Given the description of an element on the screen output the (x, y) to click on. 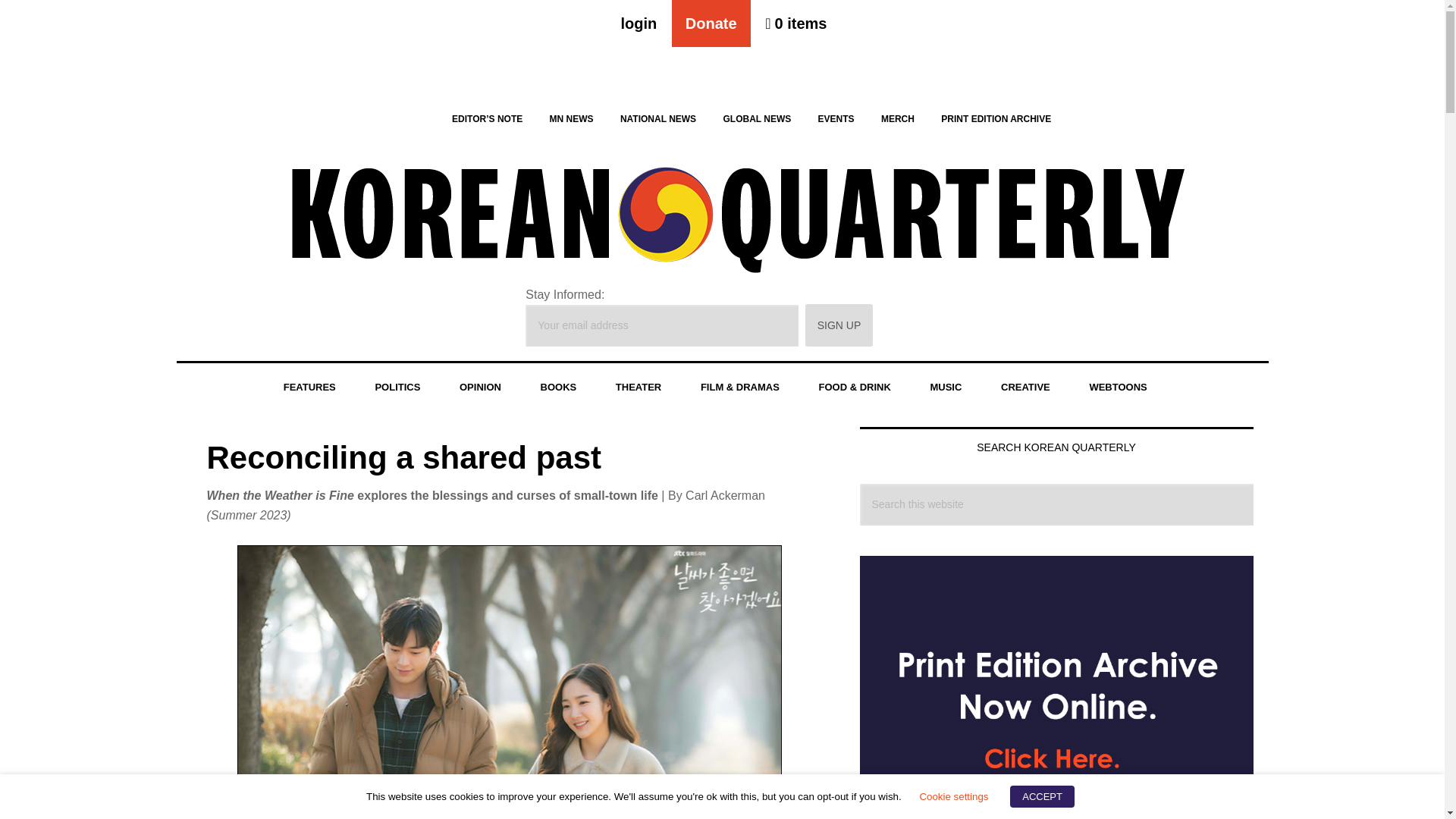
THEATER (638, 387)
MN NEWS (571, 118)
0 items (795, 23)
Start shopping (795, 23)
MUSIC (945, 387)
CREATIVE (1025, 387)
WEBTOONS (1117, 387)
GLOBAL NEWS (757, 118)
POLITICS (397, 387)
NATIONAL NEWS (658, 118)
Sign up (839, 324)
PRINT EDITION ARCHIVE (995, 118)
EVENTS (836, 118)
FEATURES (309, 387)
